Given the description of an element on the screen output the (x, y) to click on. 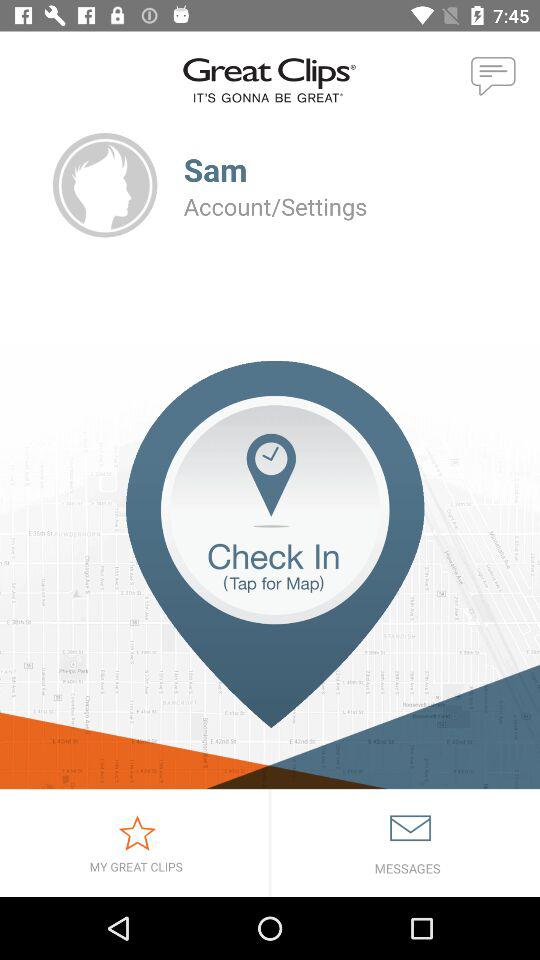
get directions (269, 574)
